Given the description of an element on the screen output the (x, y) to click on. 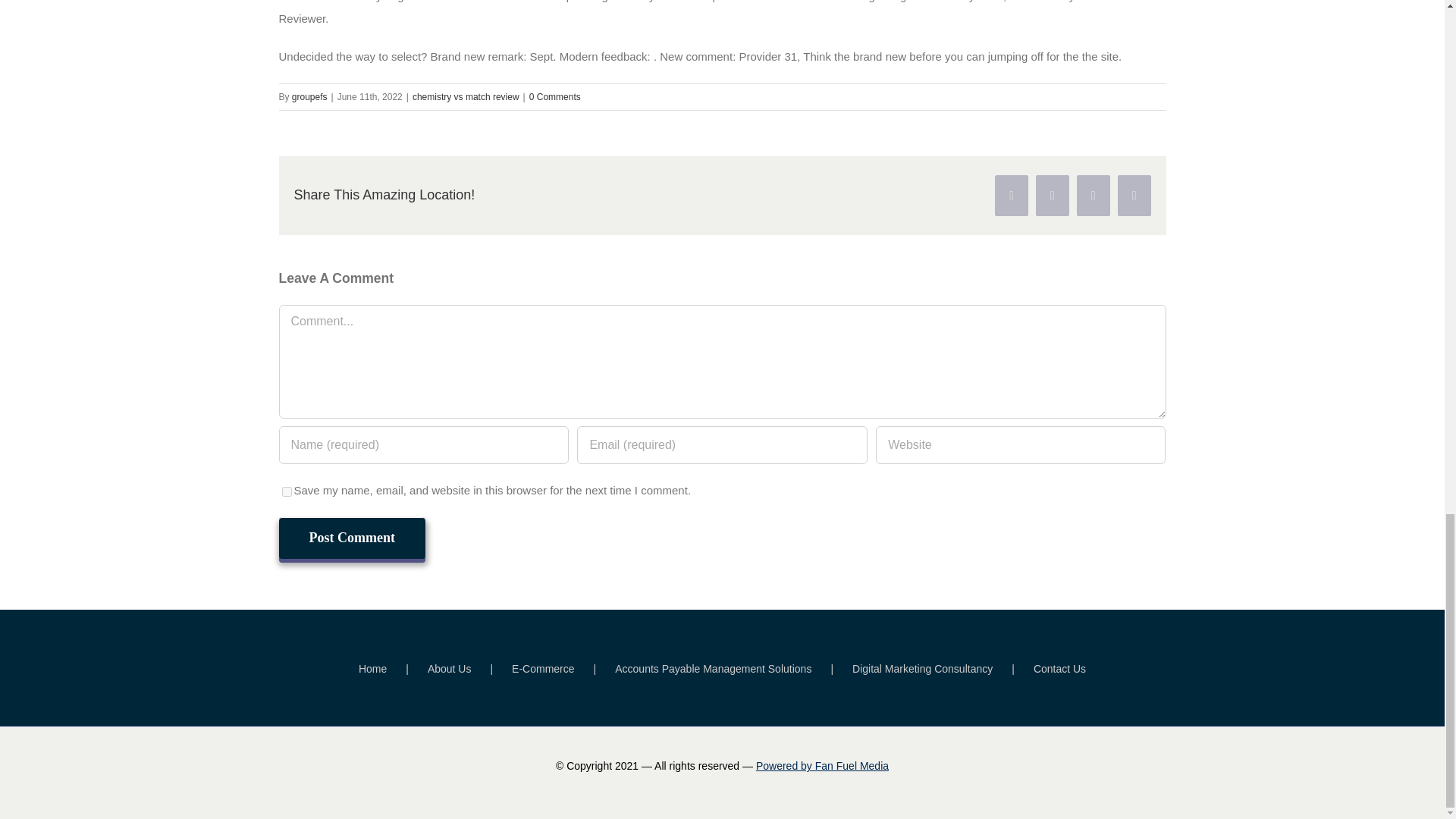
chemistry vs match review (465, 96)
About Us (470, 668)
Accounts Payable Management Solutions (732, 668)
Post Comment (352, 537)
Home (393, 668)
Digital Marketing Consultancy (942, 668)
E-Commerce (563, 668)
yes (287, 491)
groupefs (309, 96)
Contact Us (1059, 668)
